Given the description of an element on the screen output the (x, y) to click on. 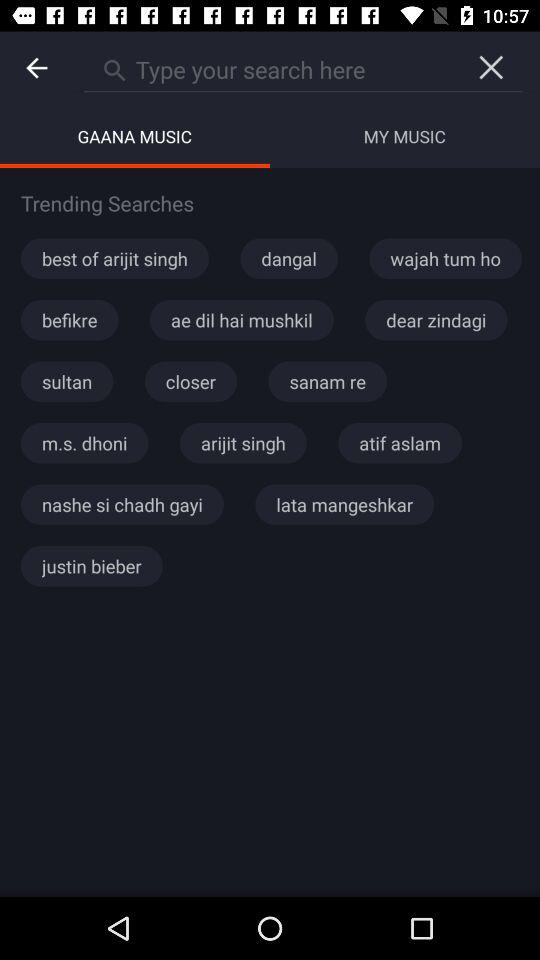
swipe until the wajah tum ho icon (445, 258)
